Given the description of an element on the screen output the (x, y) to click on. 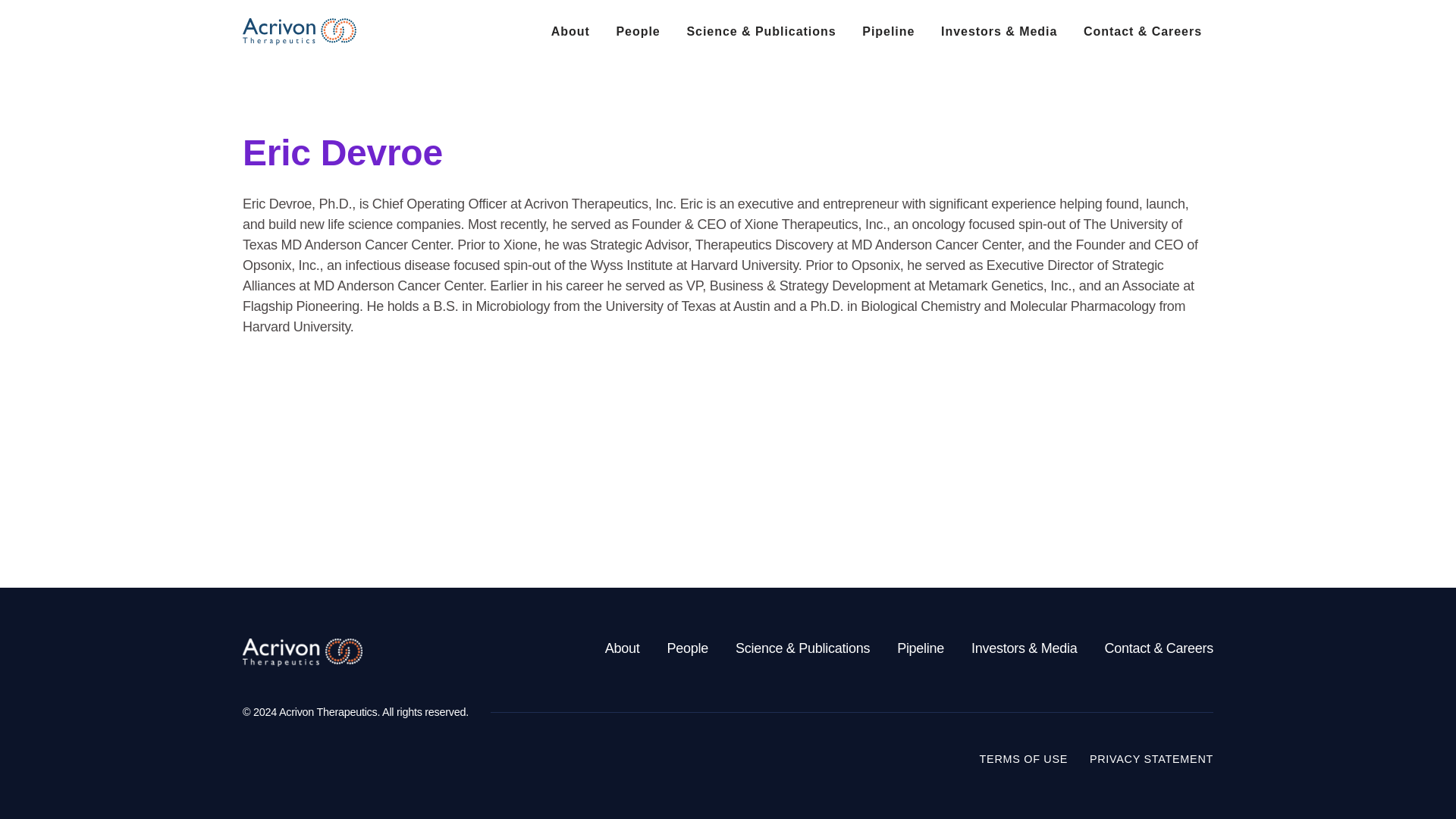
About (570, 31)
Pipeline (919, 648)
Eric Devroe (342, 152)
Pipeline (888, 31)
TERMS OF USE (1023, 758)
People (686, 648)
People (637, 31)
PRIVACY STATEMENT (1150, 758)
About (622, 648)
